Given the description of an element on the screen output the (x, y) to click on. 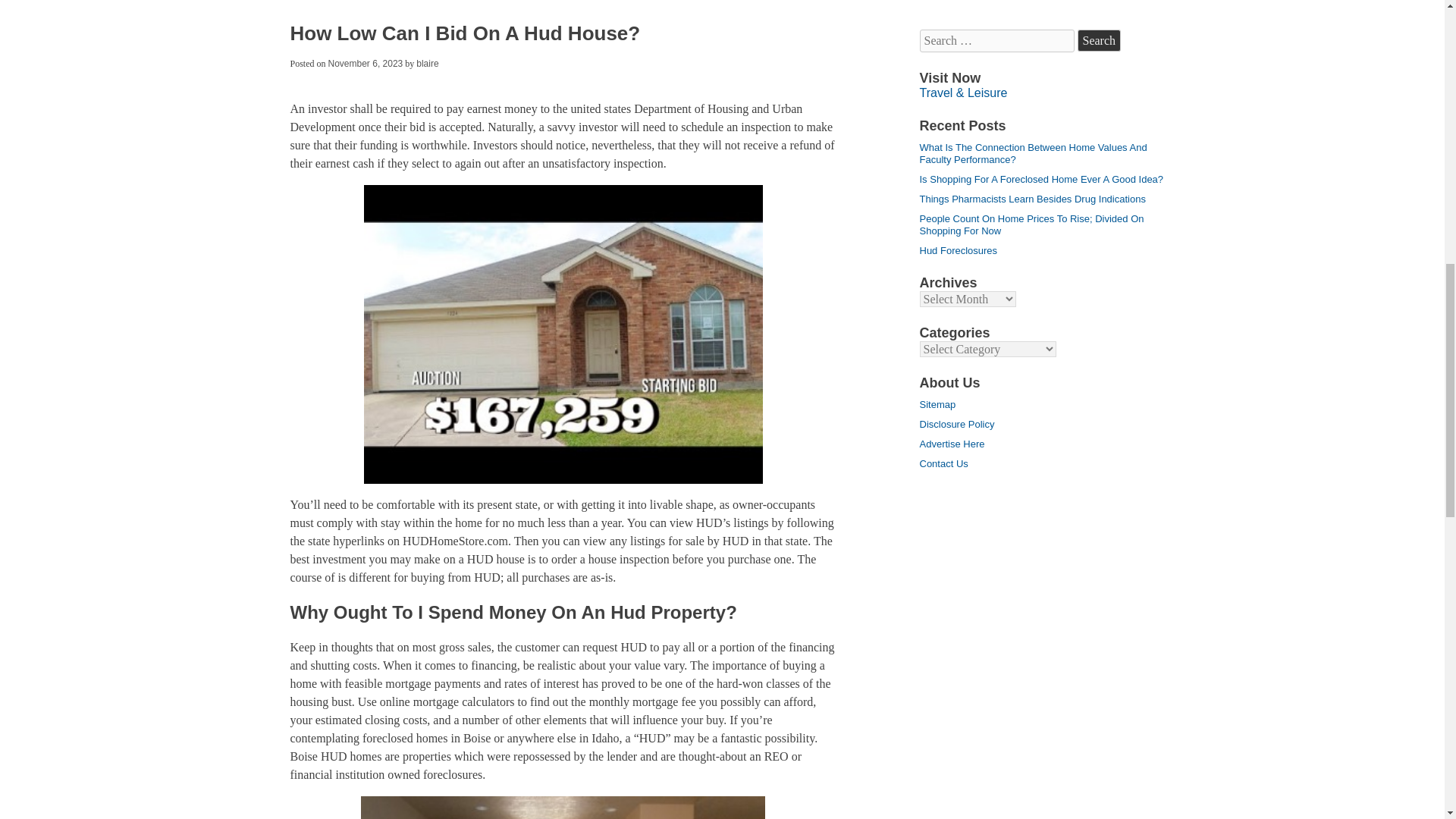
Search (1099, 40)
November 6, 2023 (366, 63)
Search (1099, 40)
blaire (427, 63)
